Given the description of an element on the screen output the (x, y) to click on. 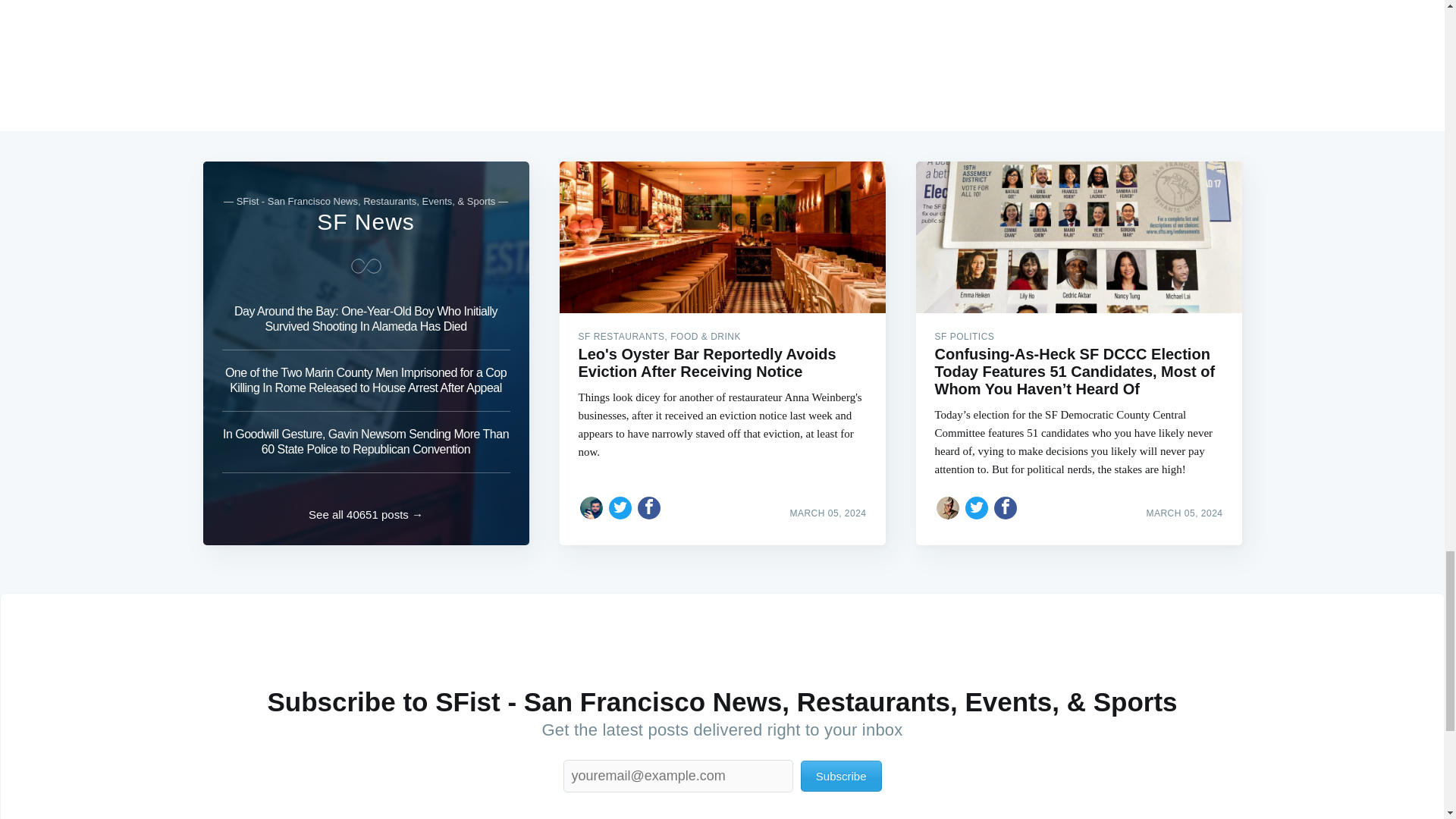
Share on Twitter (976, 507)
Share on Facebook (1004, 507)
SF News (365, 221)
Share on Twitter (620, 507)
Share on Facebook (649, 507)
